Given the description of an element on the screen output the (x, y) to click on. 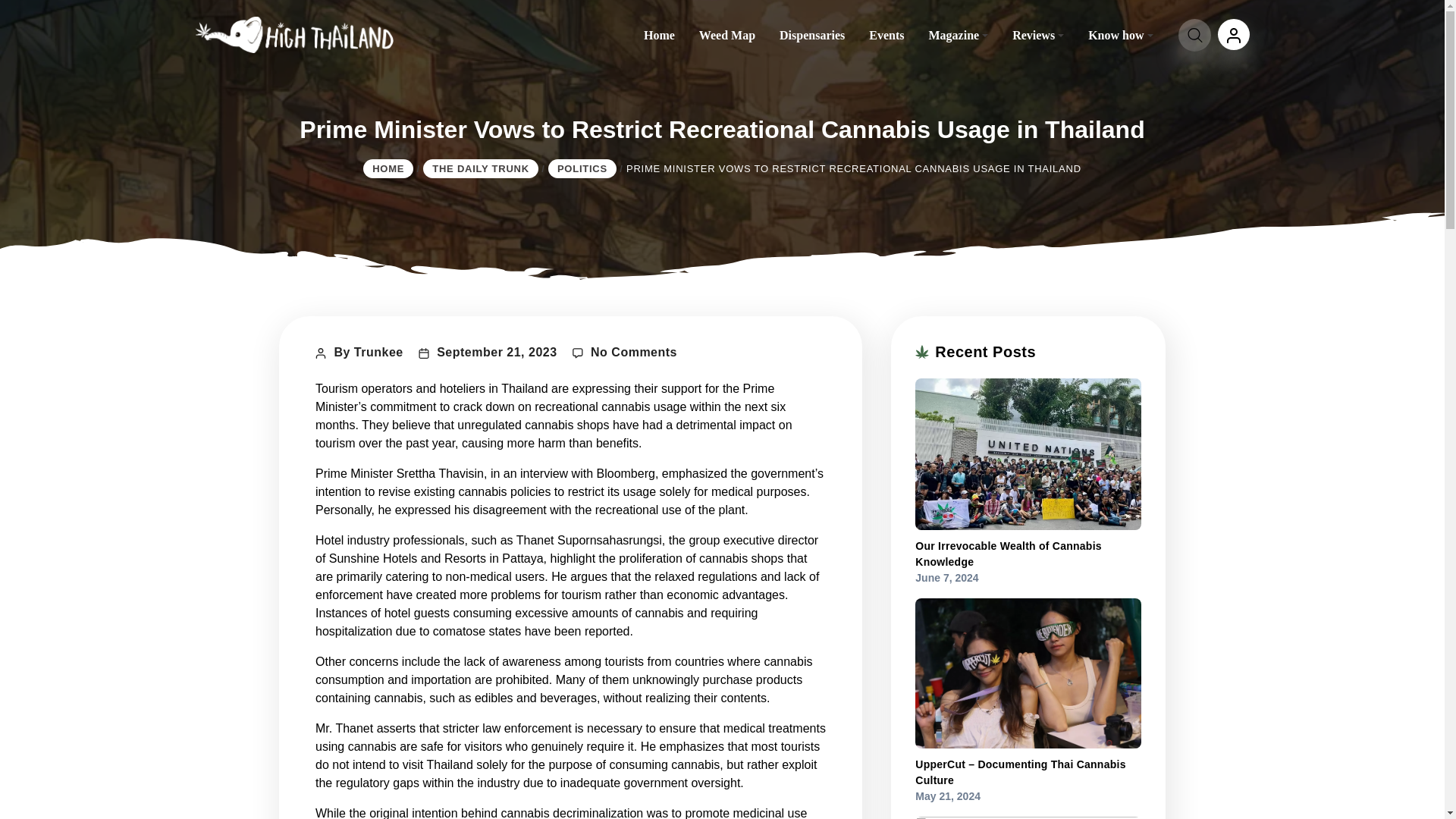
By Trunkee (368, 351)
Go to the The Daily Trunk category archives. (480, 168)
Magazine (957, 34)
Home (659, 34)
Dispensaries (812, 34)
Know how (1119, 34)
Weed Map (727, 34)
Go to the Politics category archives. (581, 168)
HOME (387, 168)
THE DAILY TRUNK (480, 168)
Events (886, 34)
Go to HighThailand. (387, 168)
Reviews (1037, 34)
Search (16, 16)
